Given the description of an element on the screen output the (x, y) to click on. 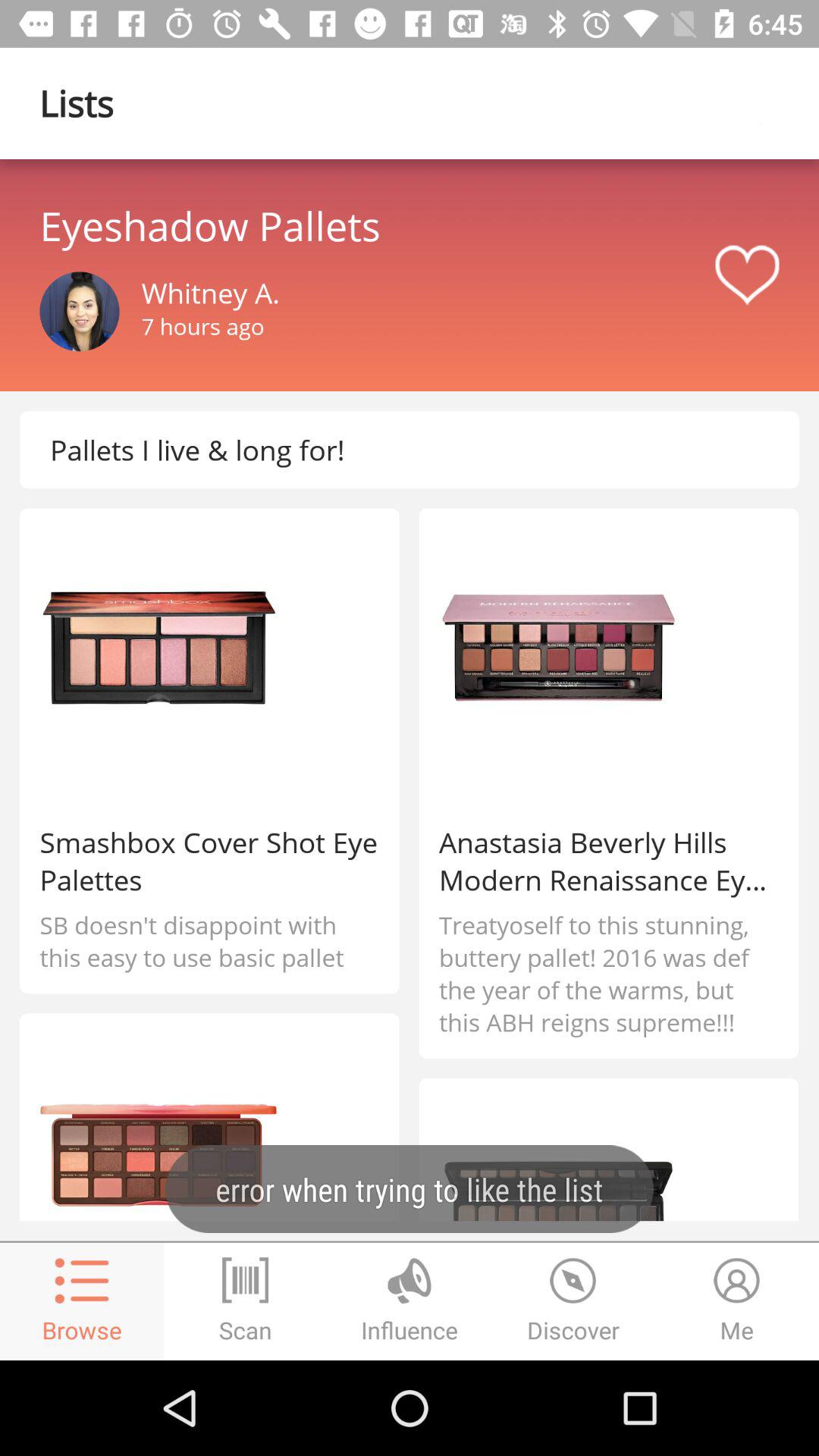
like button (747, 275)
